Given the description of an element on the screen output the (x, y) to click on. 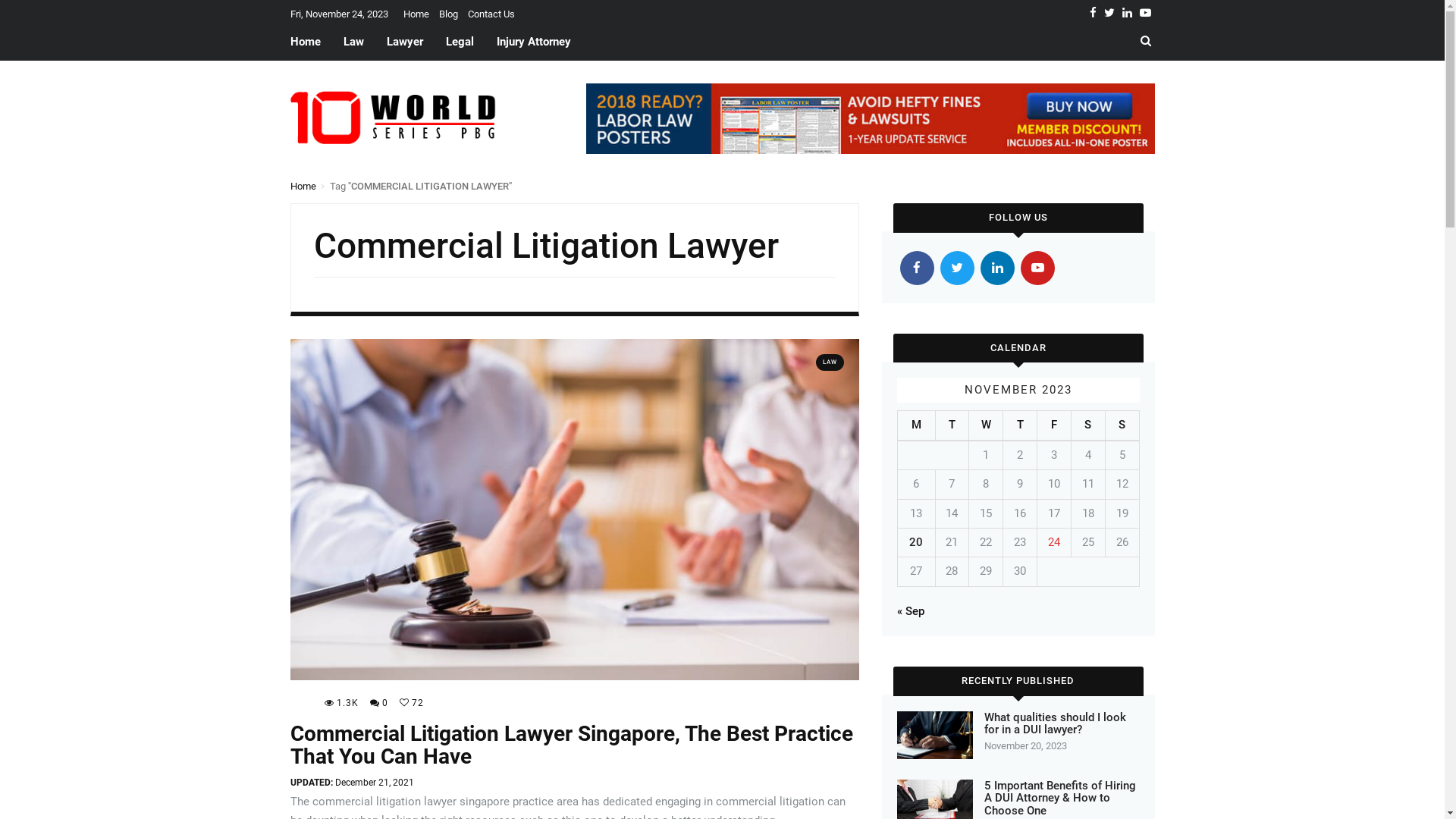
Linkedin Element type: hover (996, 268)
LAW Element type: text (829, 362)
1.3K Element type: text (341, 702)
Sponser Element type: hover (869, 117)
72 Element type: text (410, 708)
Home Element type: text (302, 185)
Facebook Element type: hover (916, 268)
Twitter Element type: hover (1109, 12)
Home Element type: text (310, 41)
Facebook Element type: hover (1091, 12)
Home Element type: text (416, 13)
Injury Attorney Element type: text (533, 41)
Lawyer Element type: text (403, 41)
Twitter Element type: hover (957, 268)
Blog Element type: text (447, 13)
What qualities should I look for in a DUI lawyer? Element type: text (1055, 723)
YouTube Element type: hover (1144, 12)
Contact Us Element type: text (490, 13)
YouTube Element type: hover (1037, 268)
Search Element type: hover (1145, 41)
Law topics of your choice Element type: hover (396, 117)
Linkedin Element type: hover (1127, 12)
Franklin Element type: hover (300, 703)
20 Element type: text (915, 542)
0 Element type: text (379, 702)
Law Element type: text (353, 41)
Legal Element type: text (458, 41)
